Given the description of an element on the screen output the (x, y) to click on. 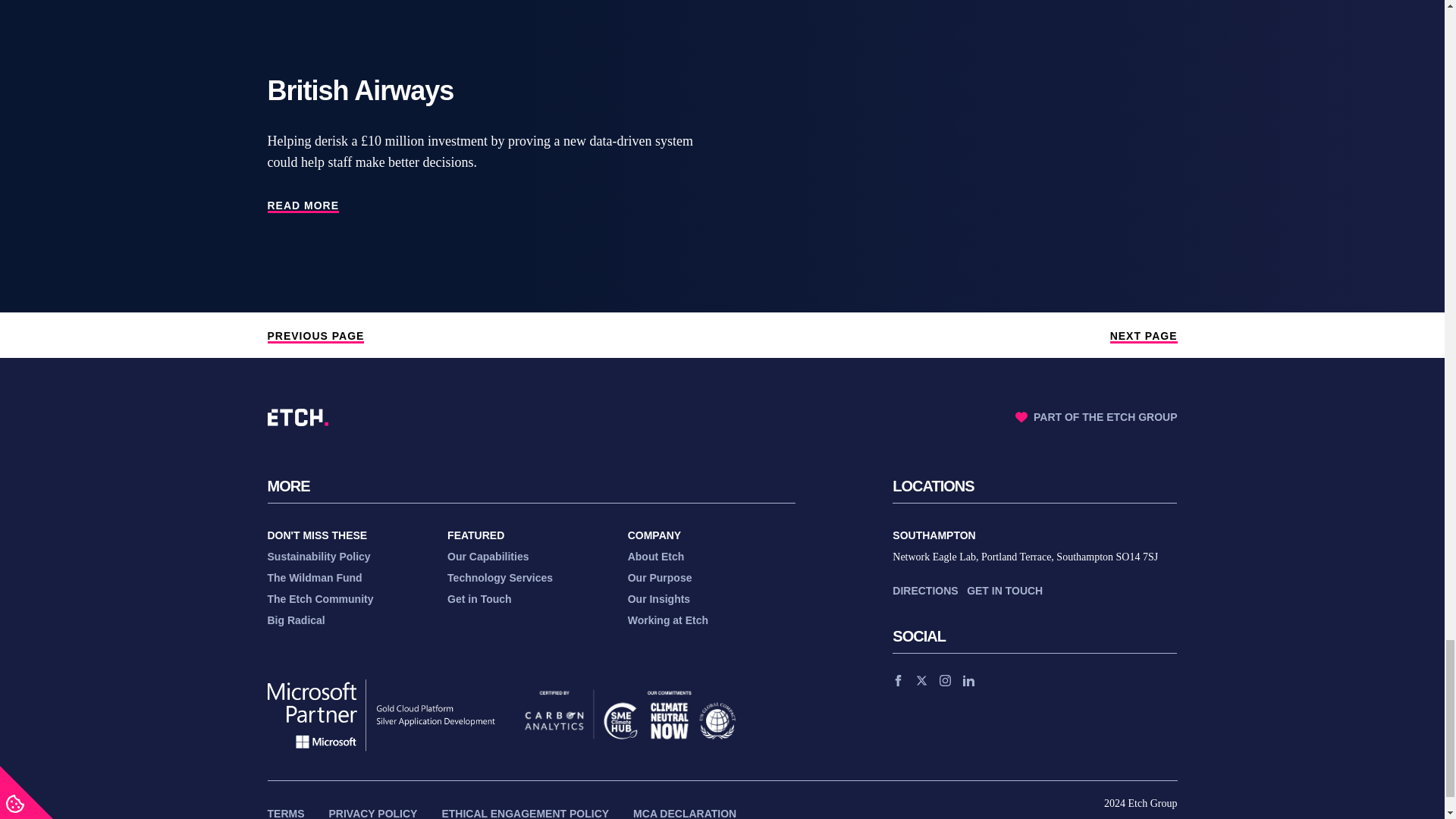
Sustainability Policy (317, 556)
Etch - Home (296, 416)
READ MORE (302, 205)
facebook (898, 680)
The Wildman Fund (313, 577)
Get in Touch (1004, 590)
PART OF THE ETCH GROUP (1095, 416)
instagram (944, 680)
Directions (925, 590)
The Etch Community (319, 598)
x (921, 680)
NEXT PAGE (1143, 336)
PREVIOUS PAGE (315, 336)
